Given the description of an element on the screen output the (x, y) to click on. 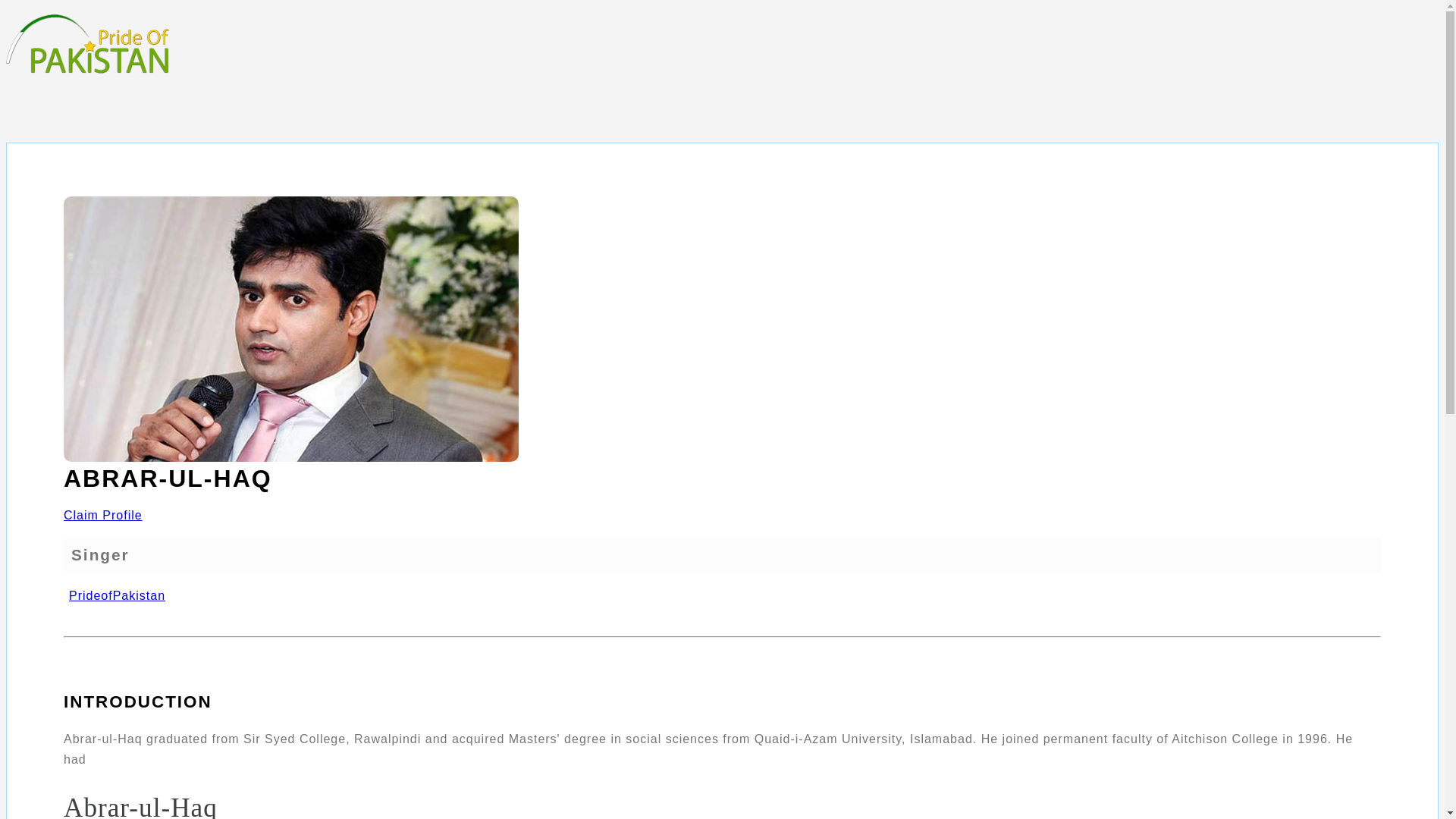
Claim Profile (103, 514)
PrideofPakistan (114, 594)
